Given the description of an element on the screen output the (x, y) to click on. 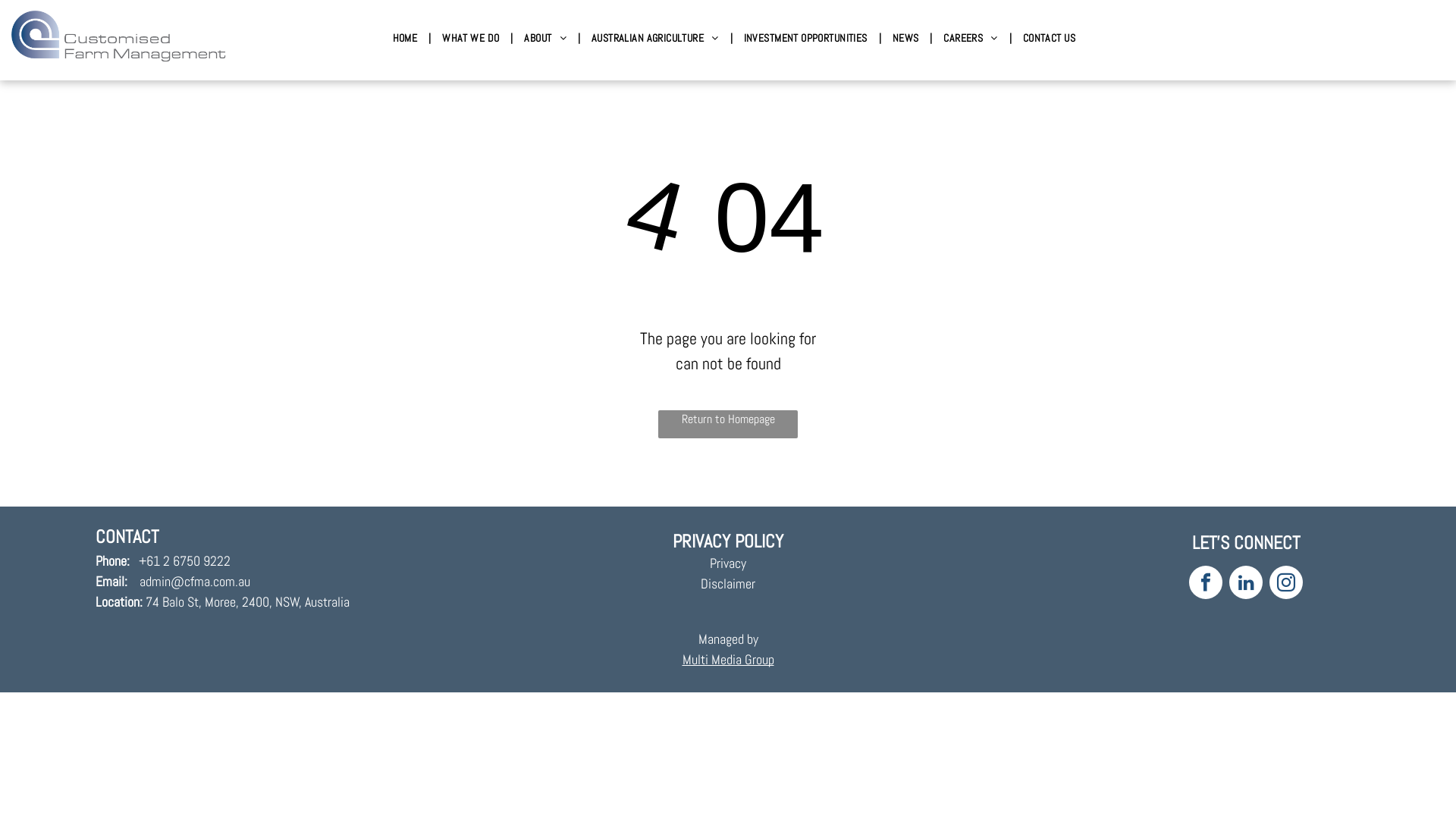
HOME Element type: text (404, 38)
admin@cfma.com.au Element type: text (194, 580)
Disclaimer Element type: text (727, 583)
NEWS Element type: text (905, 38)
ABOUT Element type: text (544, 38)
Return to Homepage Element type: text (727, 424)
CONTACT US Element type: text (1048, 38)
AUSTRALIAN AGRICULTURE Element type: text (655, 38)
INVESTMENT OPPORTUNITIES Element type: text (805, 38)
+61 2 6750 9222 Element type: text (183, 560)
CAREERS Element type: text (969, 38)
Multi Media Group Element type: text (728, 659)
WHAT WE DO Element type: text (470, 38)
Privacy Element type: text (727, 562)
